Given the description of an element on the screen output the (x, y) to click on. 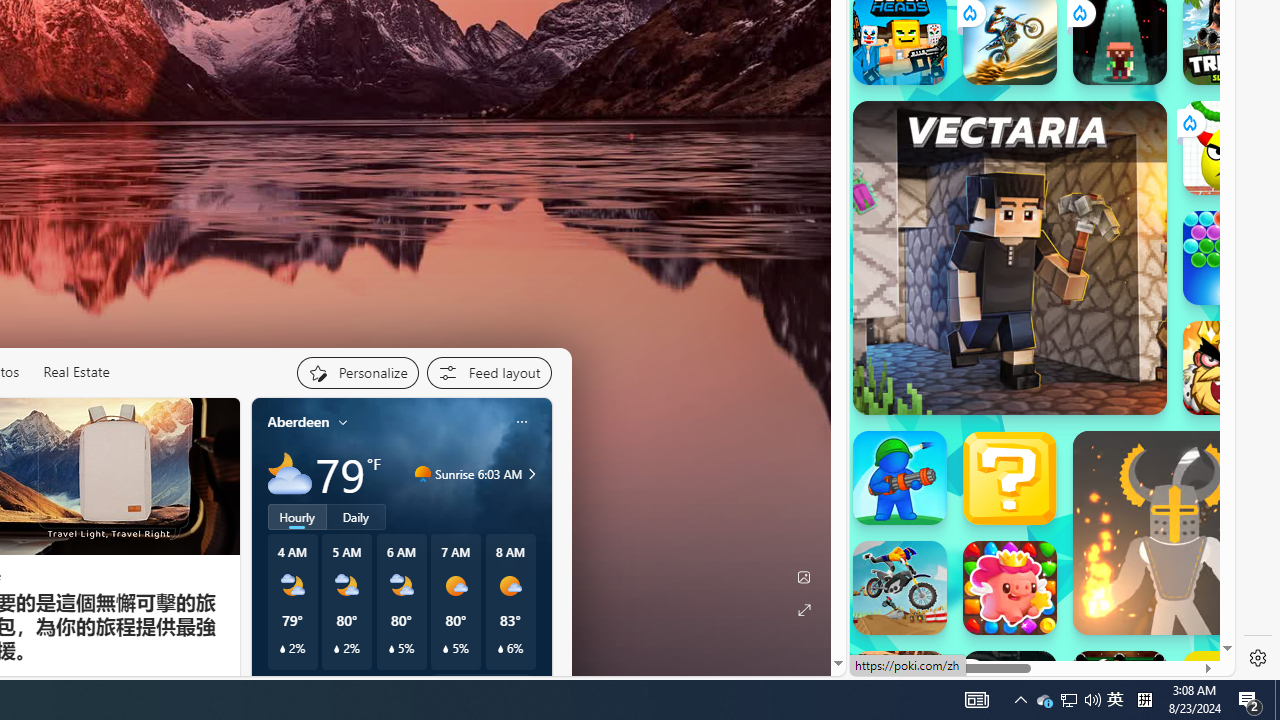
Ragdoll Hit (1174, 533)
Crazy Bikes (899, 587)
Hills of Steel (943, 334)
Combat Reloaded (1092, 233)
Bubble Shooter (1229, 257)
Bubble Shooter Bubble Shooter (1229, 257)
Match Arena Match Arena (1009, 587)
War Master (899, 477)
Expand background (803, 610)
Poki (1034, 641)
